Given the description of an element on the screen output the (x, y) to click on. 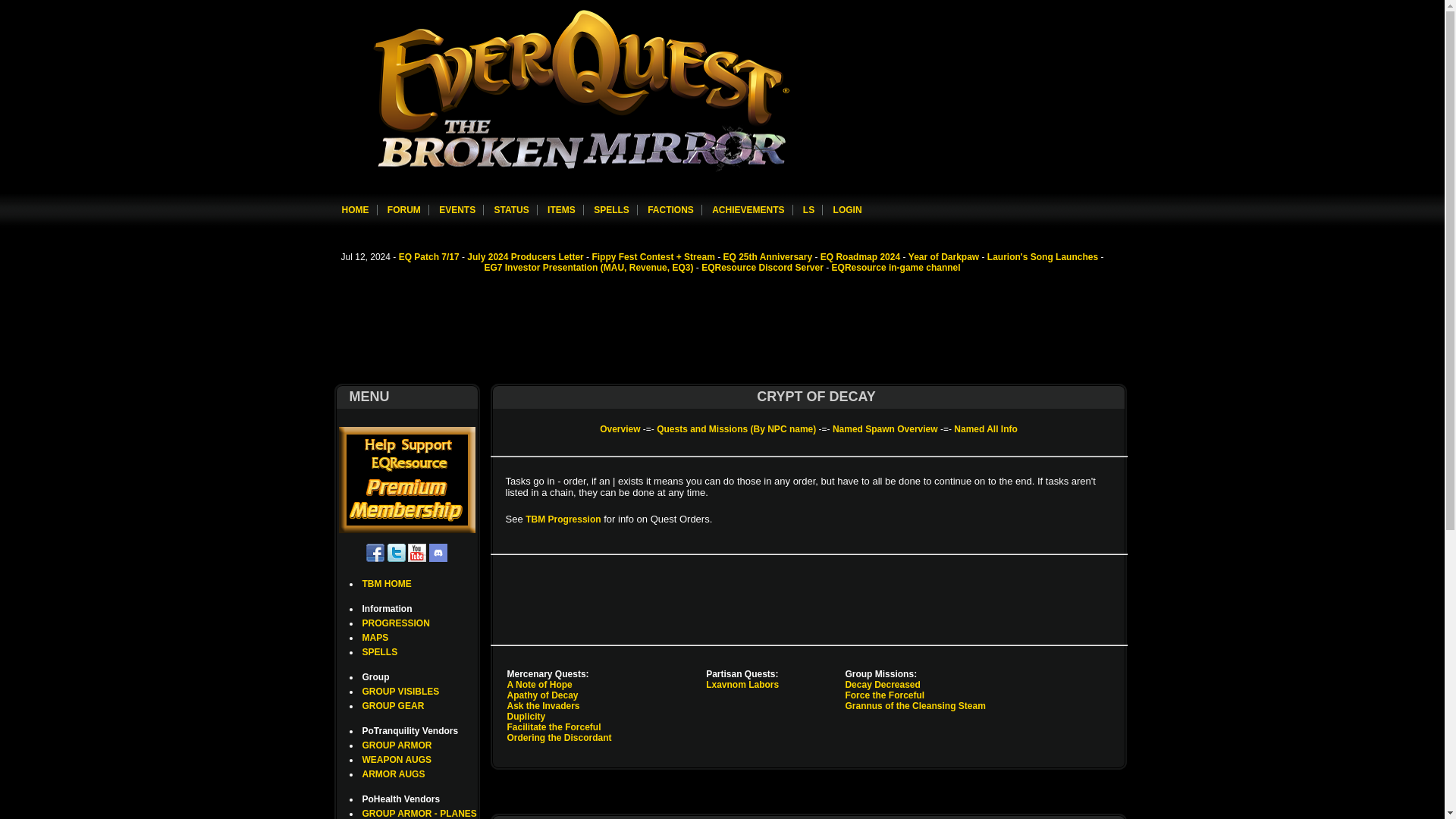
SPELLS (379, 652)
Advertisement (808, 599)
HOME (354, 209)
FORUM (404, 209)
LOGIN (847, 209)
WEAPON AUGS (397, 759)
MAPS (375, 637)
EQResource Discord Server (762, 267)
July 2024 Producers Letter (525, 256)
TBM HOME (387, 583)
